Given the description of an element on the screen output the (x, y) to click on. 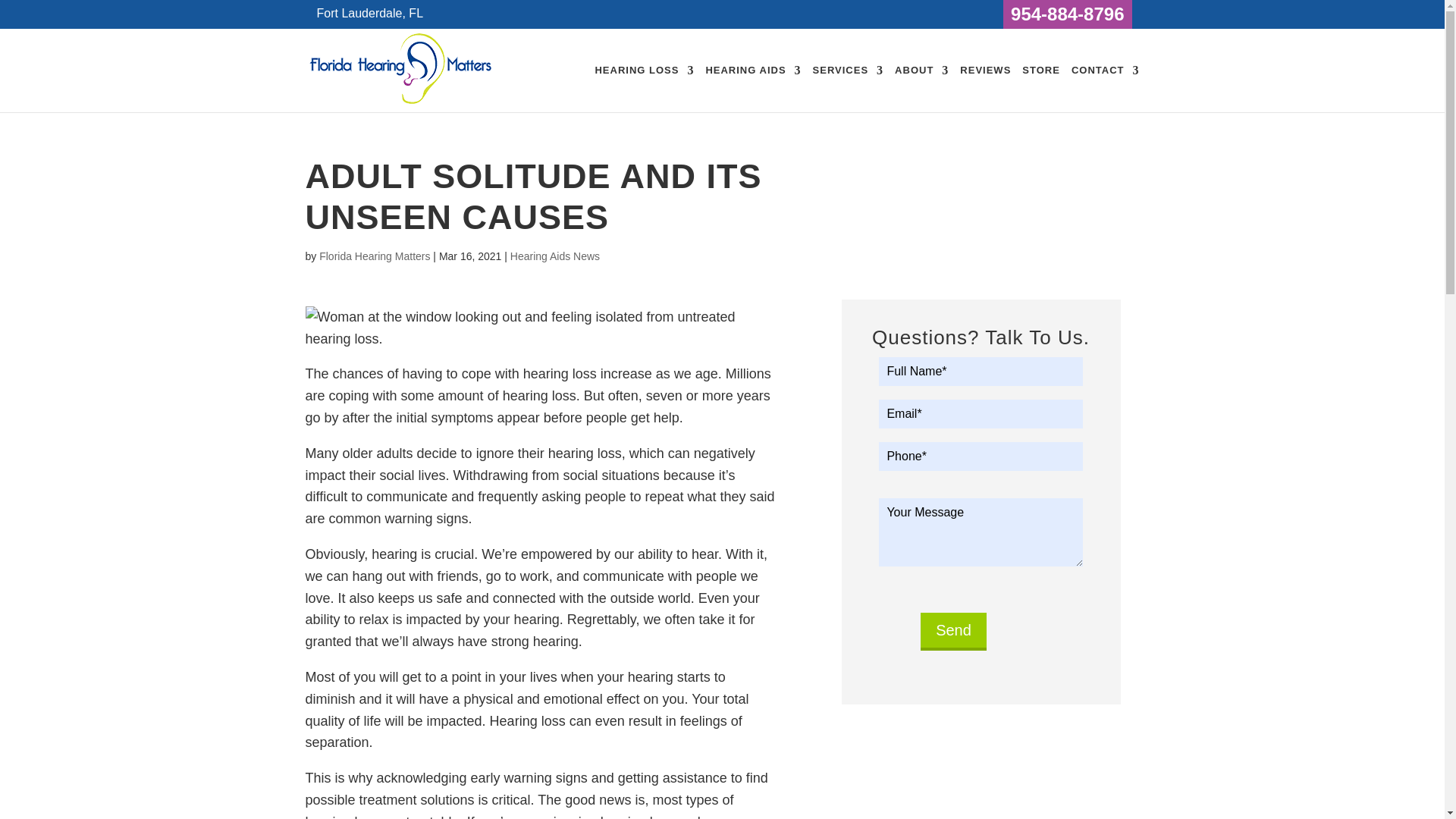
Posts by Florida Hearing Matters (373, 256)
954-884-8796 (1067, 14)
CONTACT (1105, 88)
HEARING AIDS (752, 88)
ABOUT (922, 88)
Fort Lauderdale, FL (370, 12)
REVIEWS (984, 88)
SERVICES (847, 88)
Florida Hearing Matters (400, 103)
STORE (1040, 88)
HEARING LOSS (644, 88)
Send (953, 631)
